Given the description of an element on the screen output the (x, y) to click on. 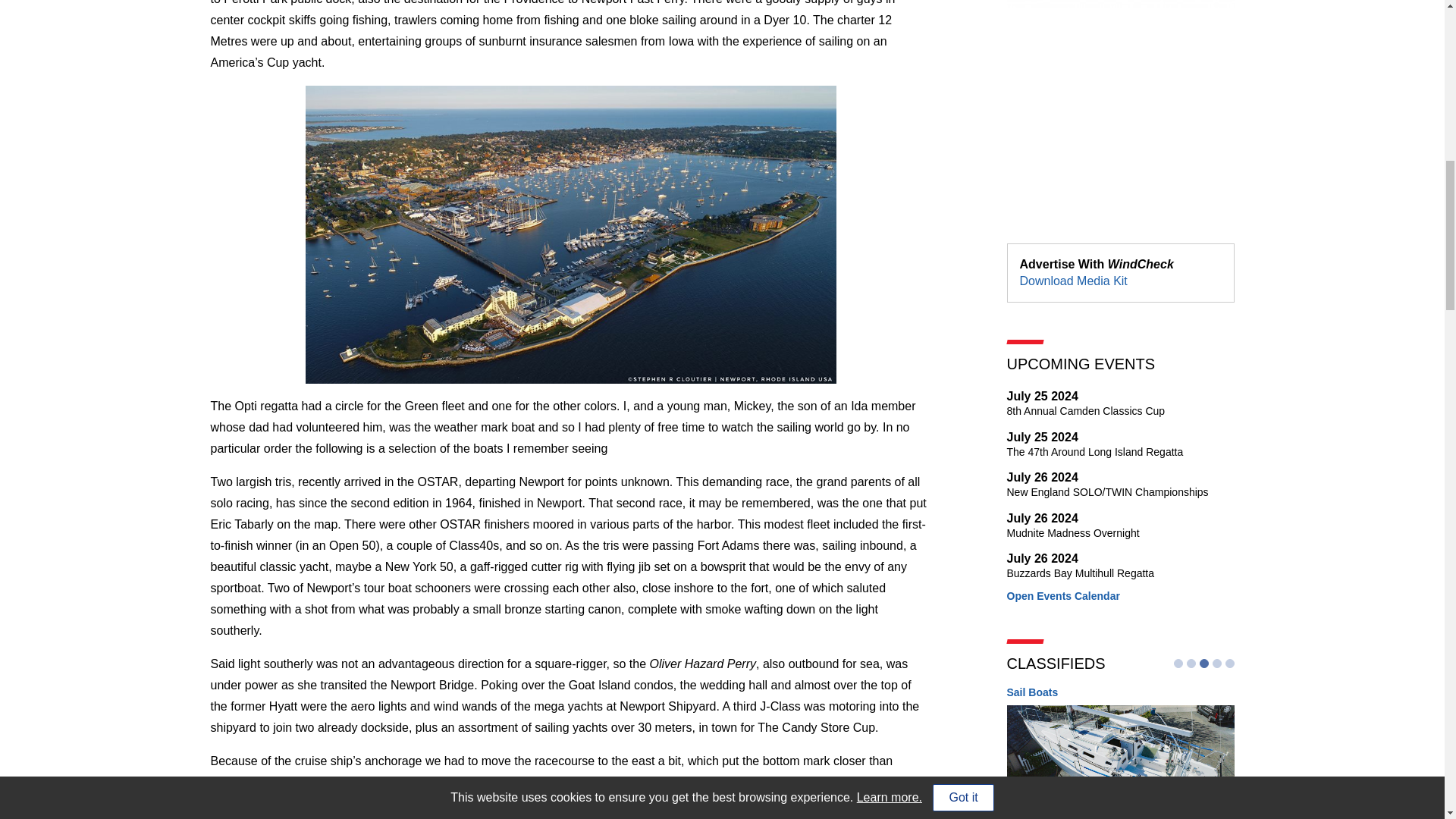
Download Media Kit (1120, 401)
